Given the description of an element on the screen output the (x, y) to click on. 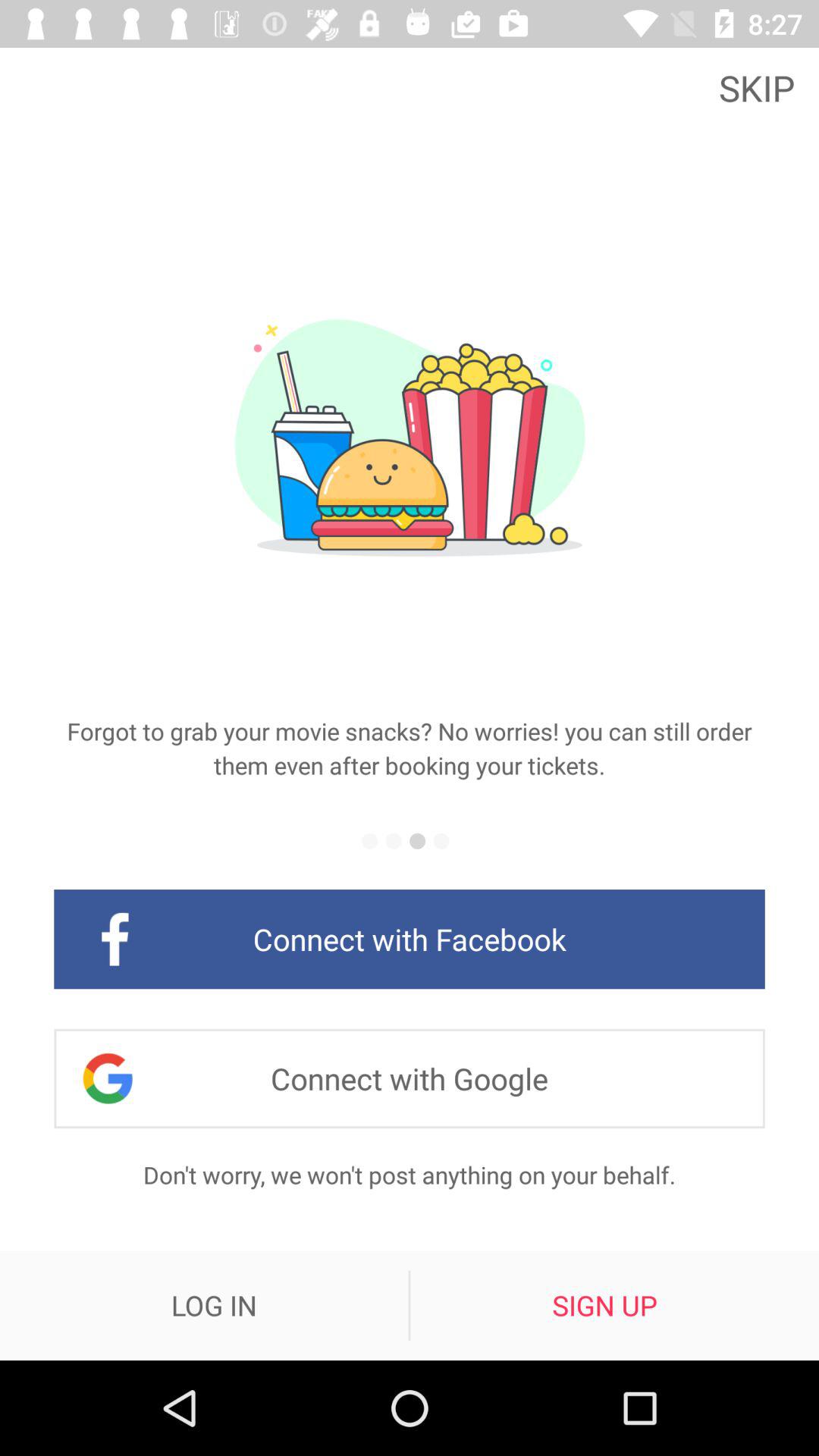
choose the icon below the don t worry icon (213, 1305)
